Given the description of an element on the screen output the (x, y) to click on. 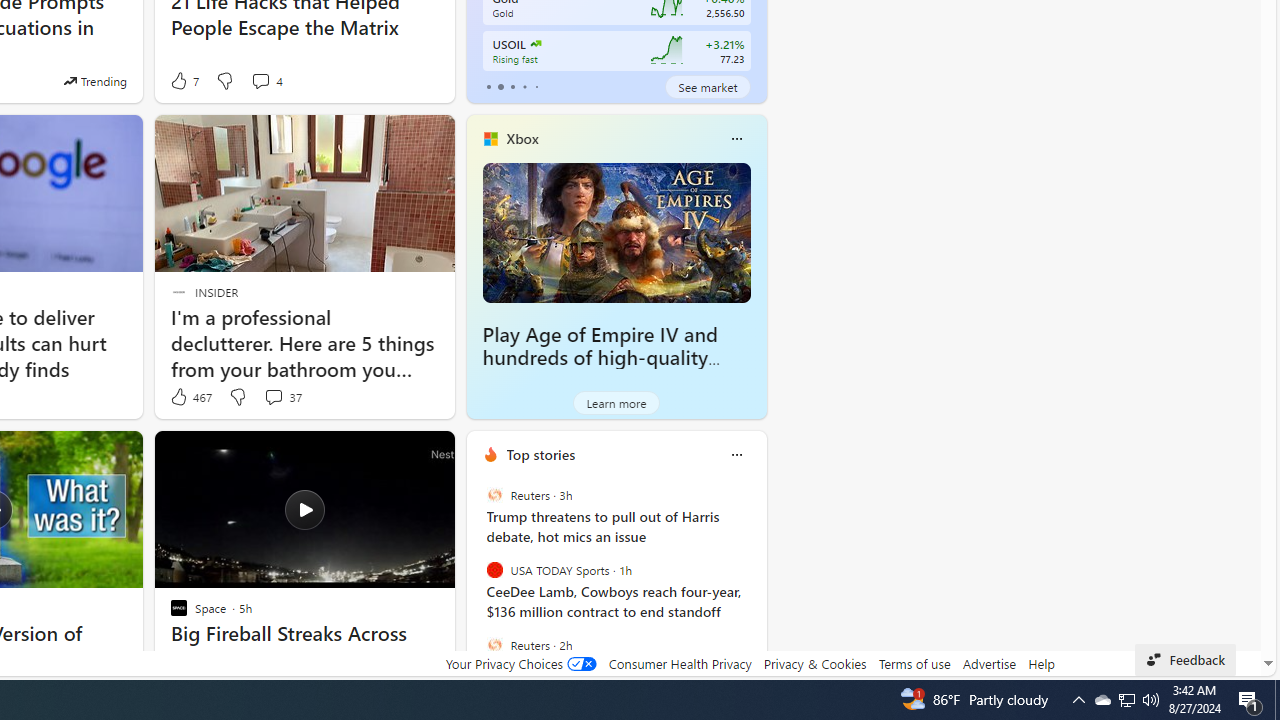
tab-0 (488, 86)
Privacy & Cookies (814, 663)
This story is trending (95, 80)
See market (708, 86)
US Oil WTI (534, 43)
tab-3 (524, 86)
USA TODAY Sports (494, 570)
tab-2 (511, 86)
Dislike (237, 397)
next (756, 583)
tab-1 (500, 86)
Help (1040, 663)
Your Privacy Choices (520, 663)
